Given the description of an element on the screen output the (x, y) to click on. 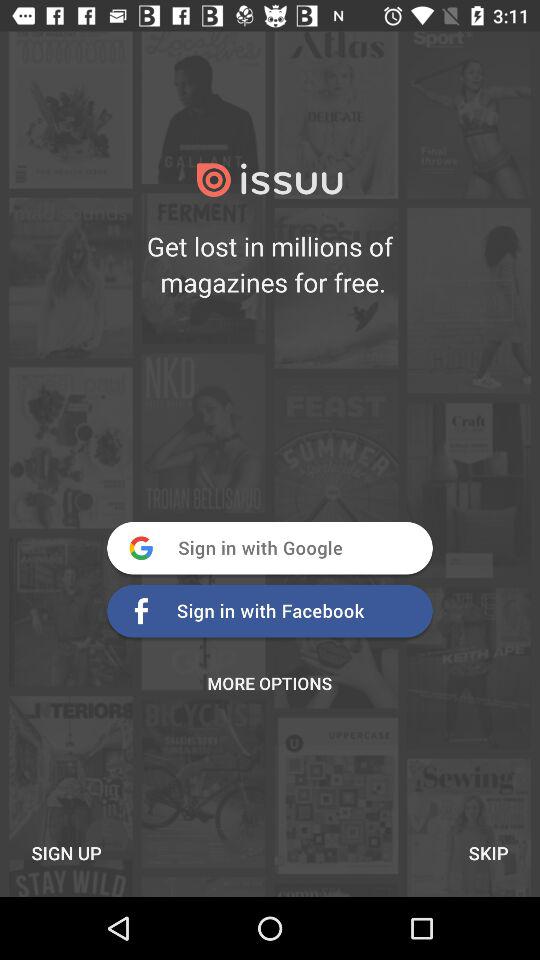
click item to the right of the sign up item (488, 852)
